Given the description of an element on the screen output the (x, y) to click on. 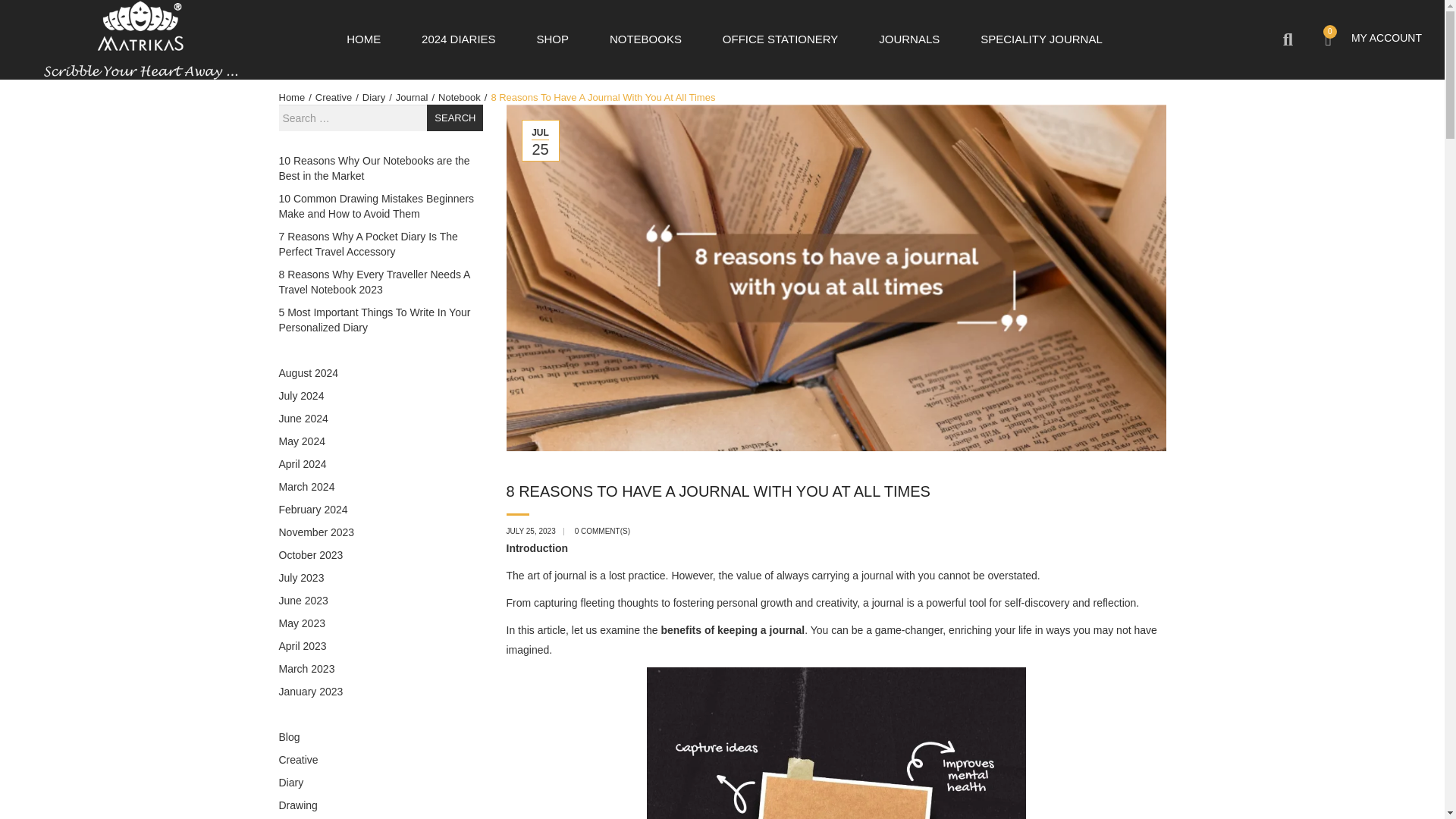
JOURNALS (909, 38)
SHOP (553, 38)
HOME (362, 38)
Search for: (353, 117)
2024 DIARIES (459, 38)
OFFICE STATIONERY (780, 38)
Login or Register (1386, 37)
Matrikas (139, 38)
NOTEBOOKS (645, 38)
